Given the description of an element on the screen output the (x, y) to click on. 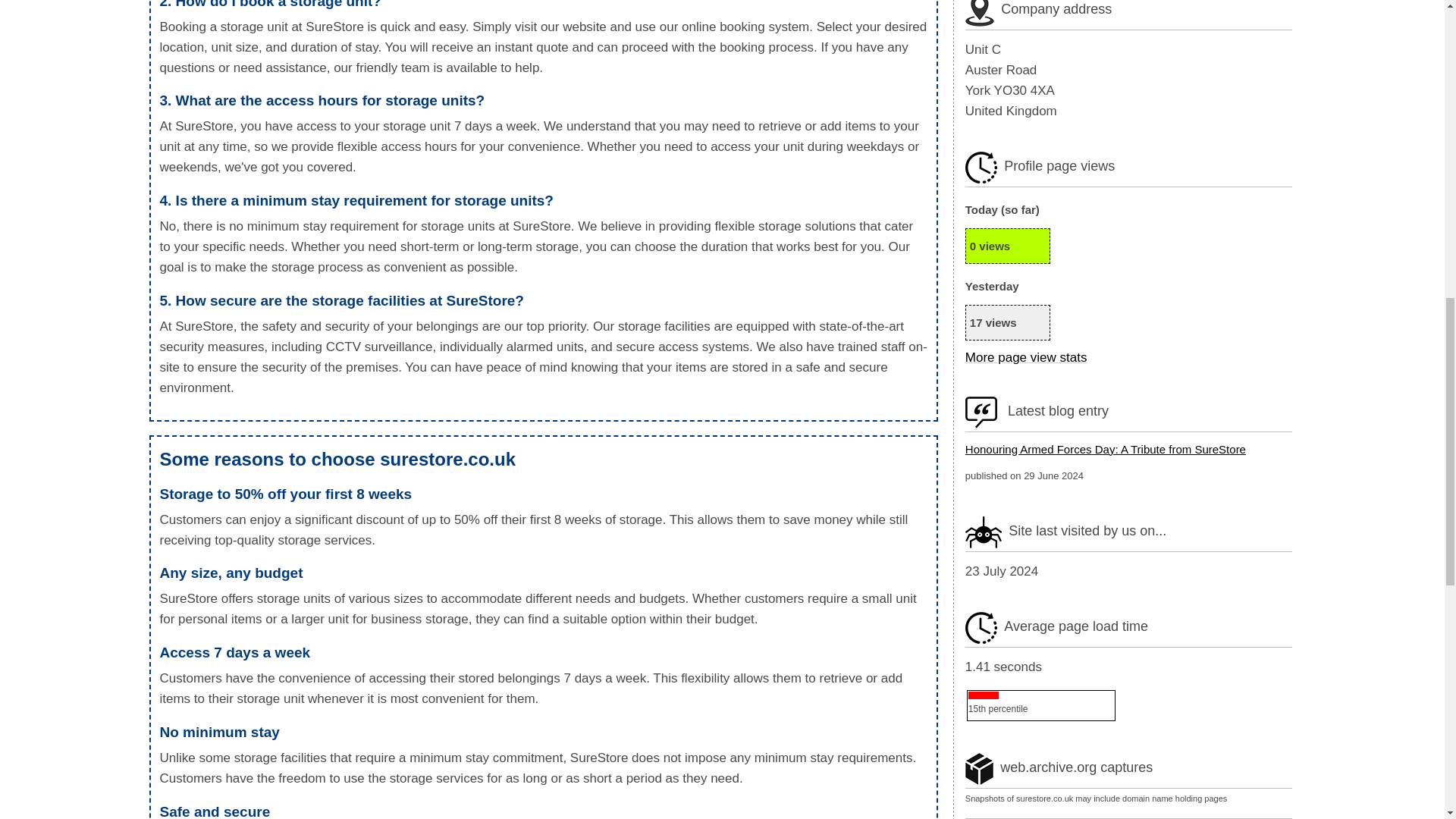
More page view stats (1026, 357)
Honouring Armed Forces Day: A Tribute from SureStore (1105, 449)
